Given the description of an element on the screen output the (x, y) to click on. 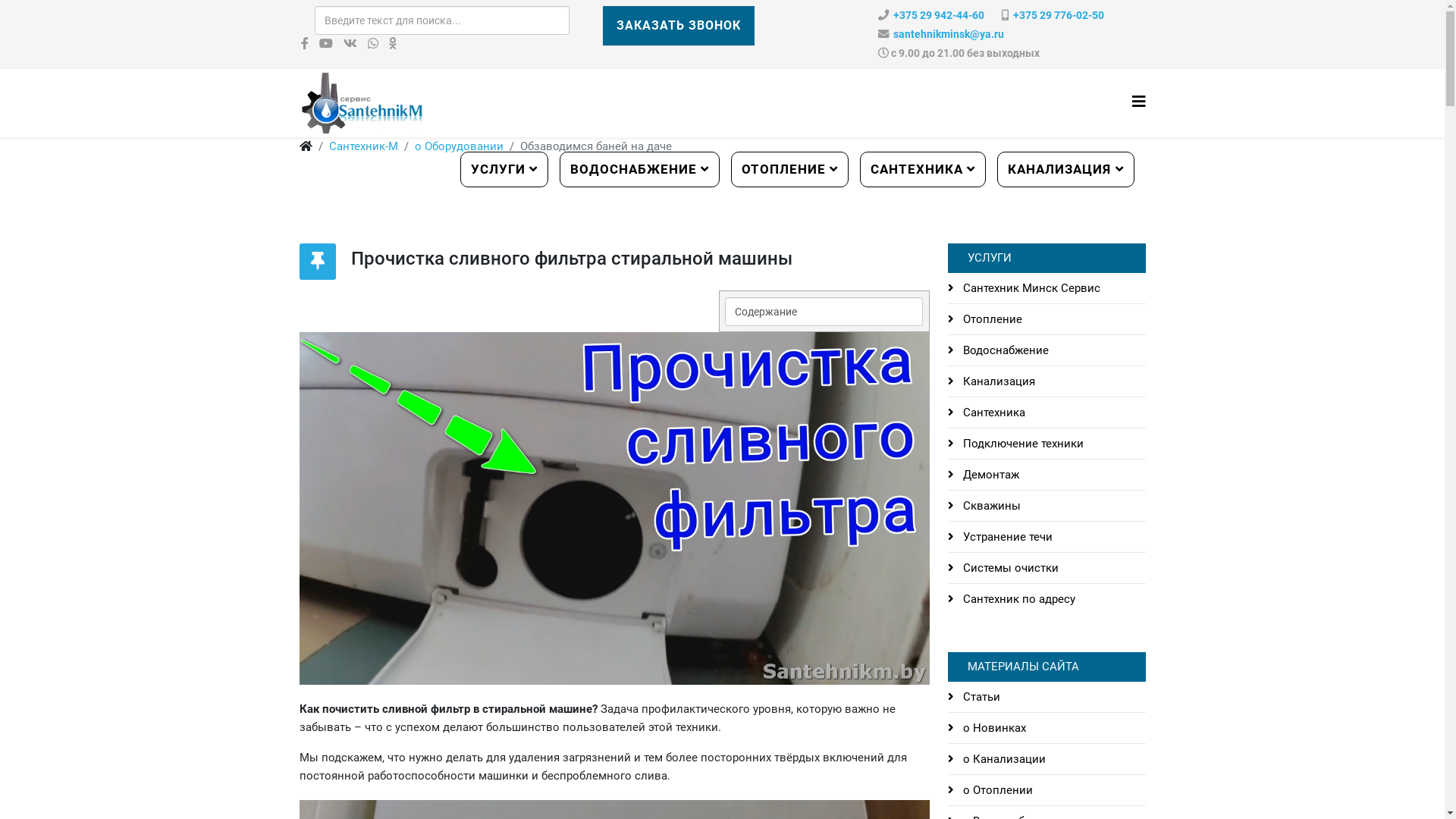
+375 29 942-44-60 Element type: text (938, 15)
Helix3 Megamenu Options Element type: hover (1138, 101)
+375 29 776-02-50 Element type: text (1058, 15)
santehnikminsk@ya.ru Element type: text (948, 34)
